Given the description of an element on the screen output the (x, y) to click on. 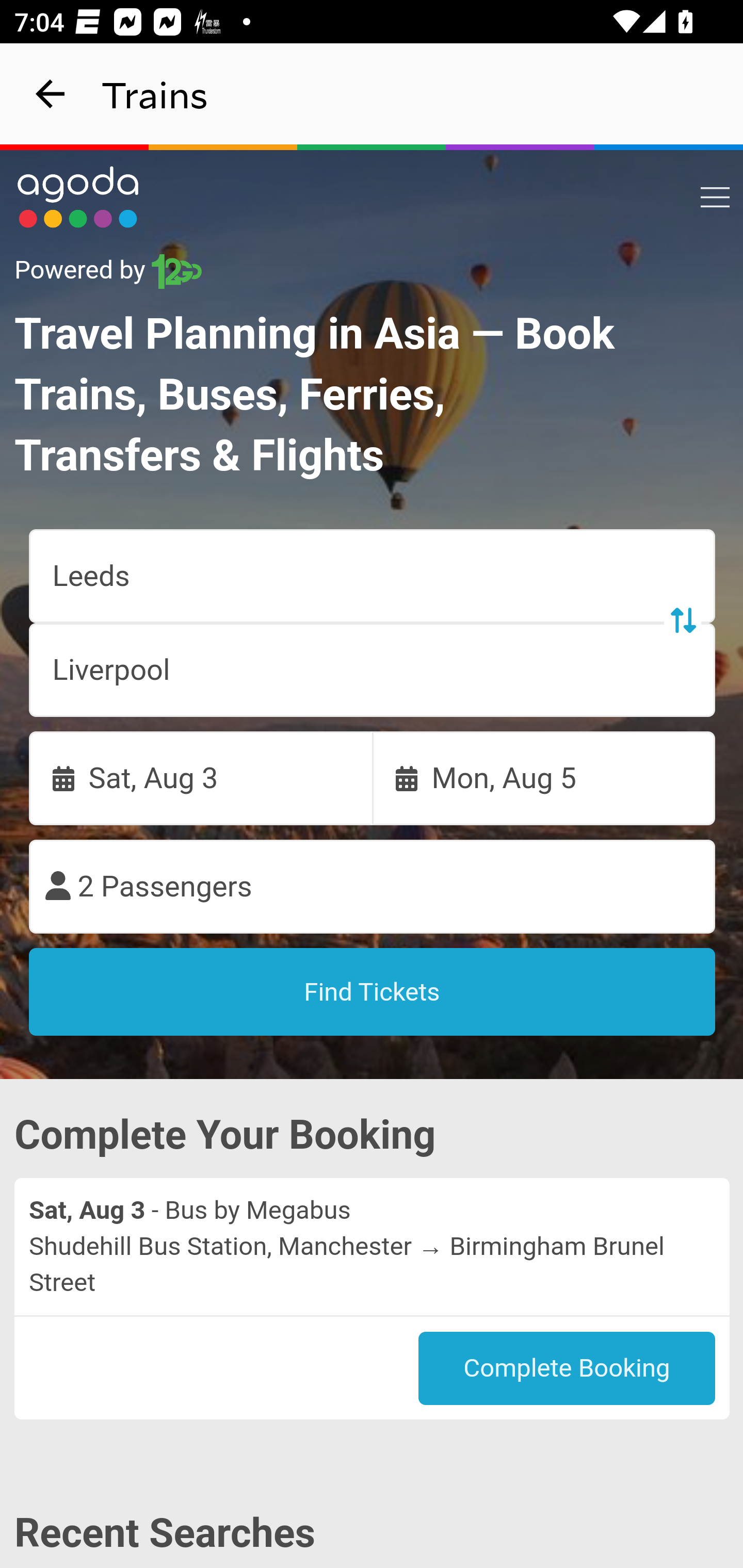
navigation_button (50, 93)
Link to main page 5418 (78, 197)
Leeds Swap trip points (372, 576)
Swap trip points (682, 619)
Liverpool (372, 670)
Sat, Aug 3 (200, 778)
Mon, Aug 5 (544, 778)
 2 Passengers (372, 887)
Find Tickets (372, 992)
Complete Booking (566, 1368)
